Given the description of an element on the screen output the (x, y) to click on. 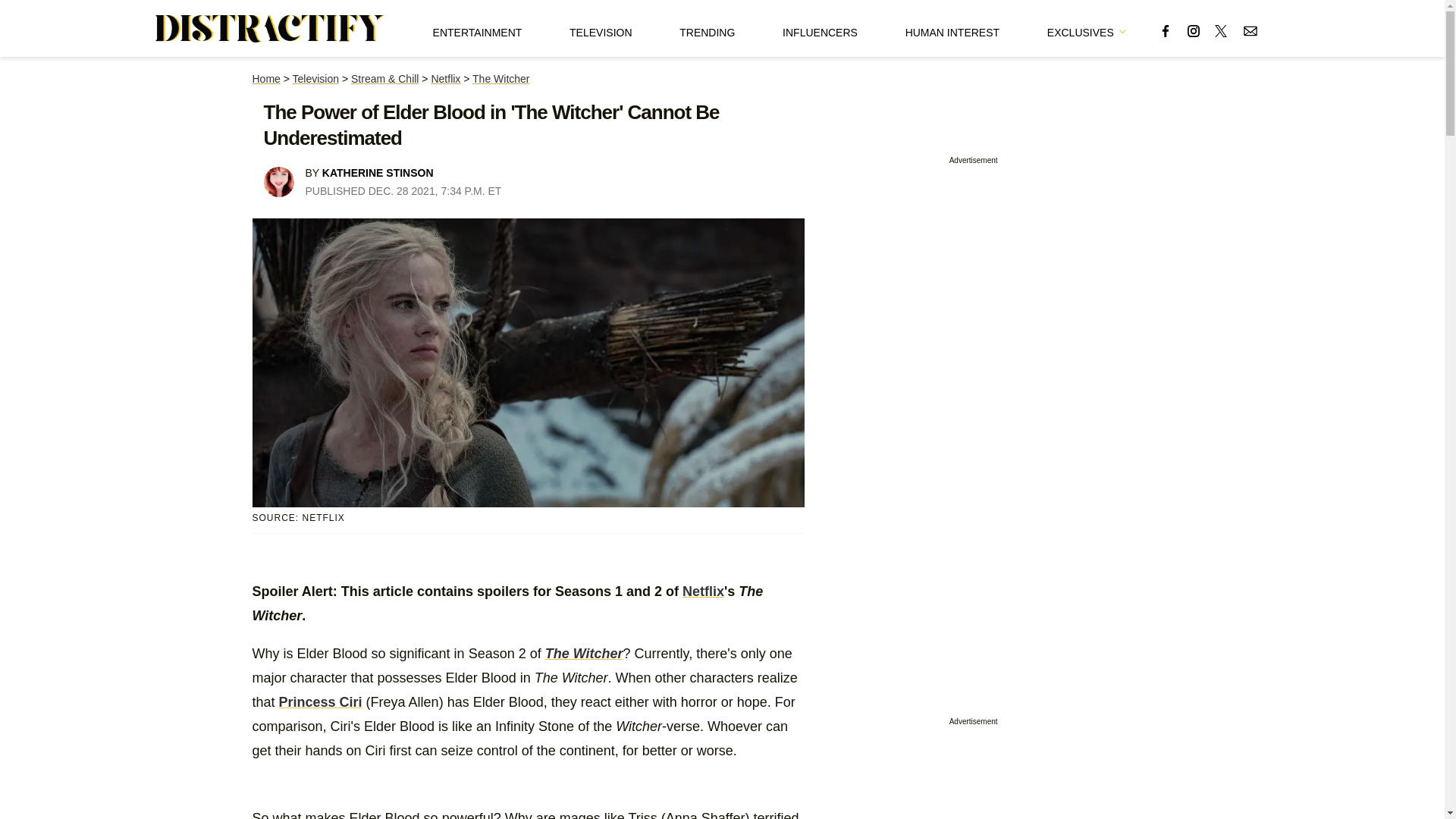
INFLUENCERS (820, 27)
The Witcher (500, 78)
KATHERINE STINSON (377, 173)
Netflix (445, 78)
Princess Ciri (320, 702)
TELEVISION (600, 27)
The Witcher (583, 653)
Home (265, 78)
LINK TO X (1220, 30)
LINK TO EMAIL SUBSCRIBE (1250, 30)
LINK TO INSTAGRAM (1193, 30)
ENTERTAINMENT (477, 27)
TRENDING (707, 27)
HUMAN INTEREST (951, 27)
Netflix (702, 590)
